Given the description of an element on the screen output the (x, y) to click on. 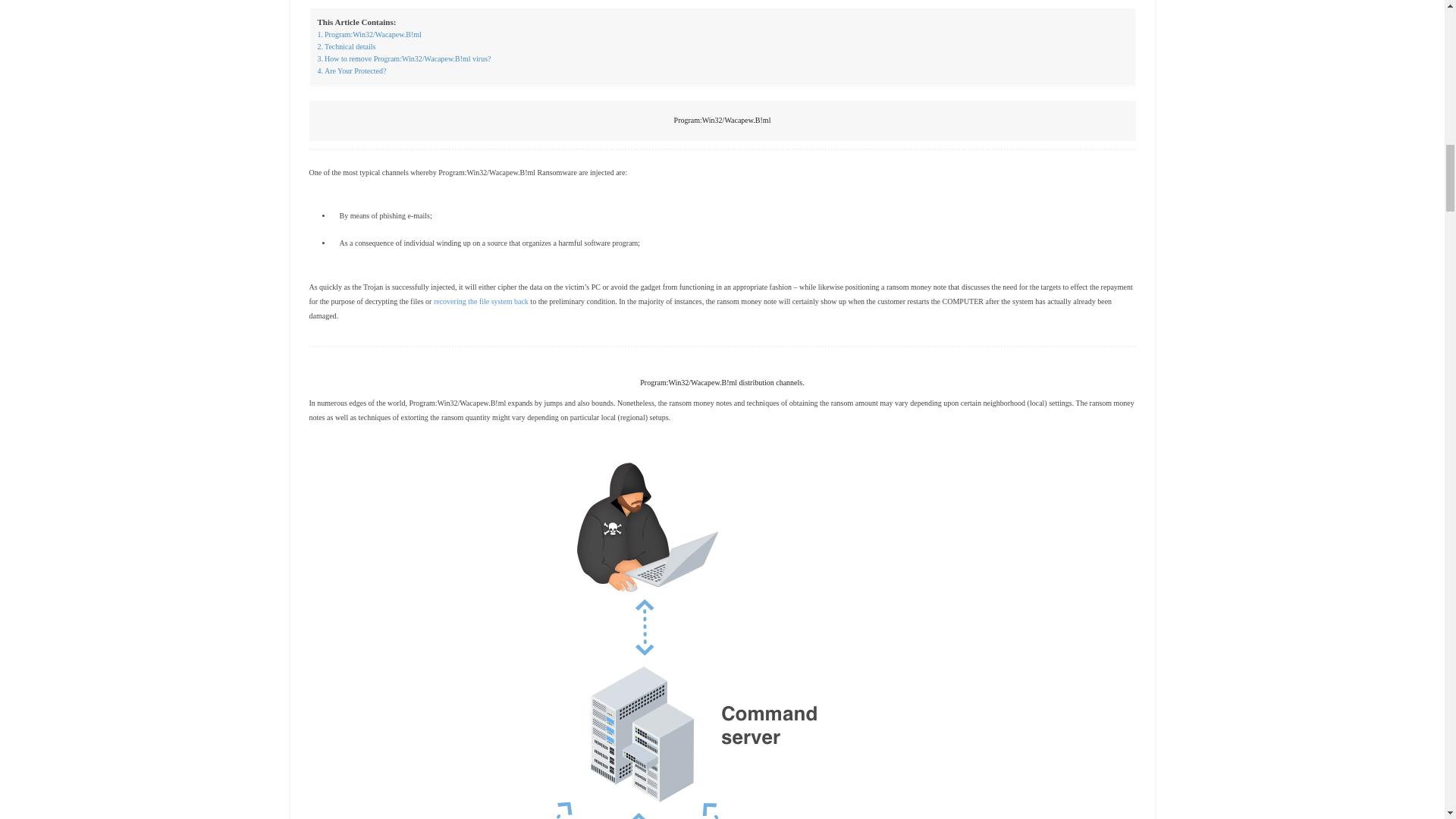
recovering the file system back (480, 301)
Are Your Protected? (351, 70)
Technical details (346, 46)
Technical details (346, 46)
Are Your Protected? (351, 70)
